Given the description of an element on the screen output the (x, y) to click on. 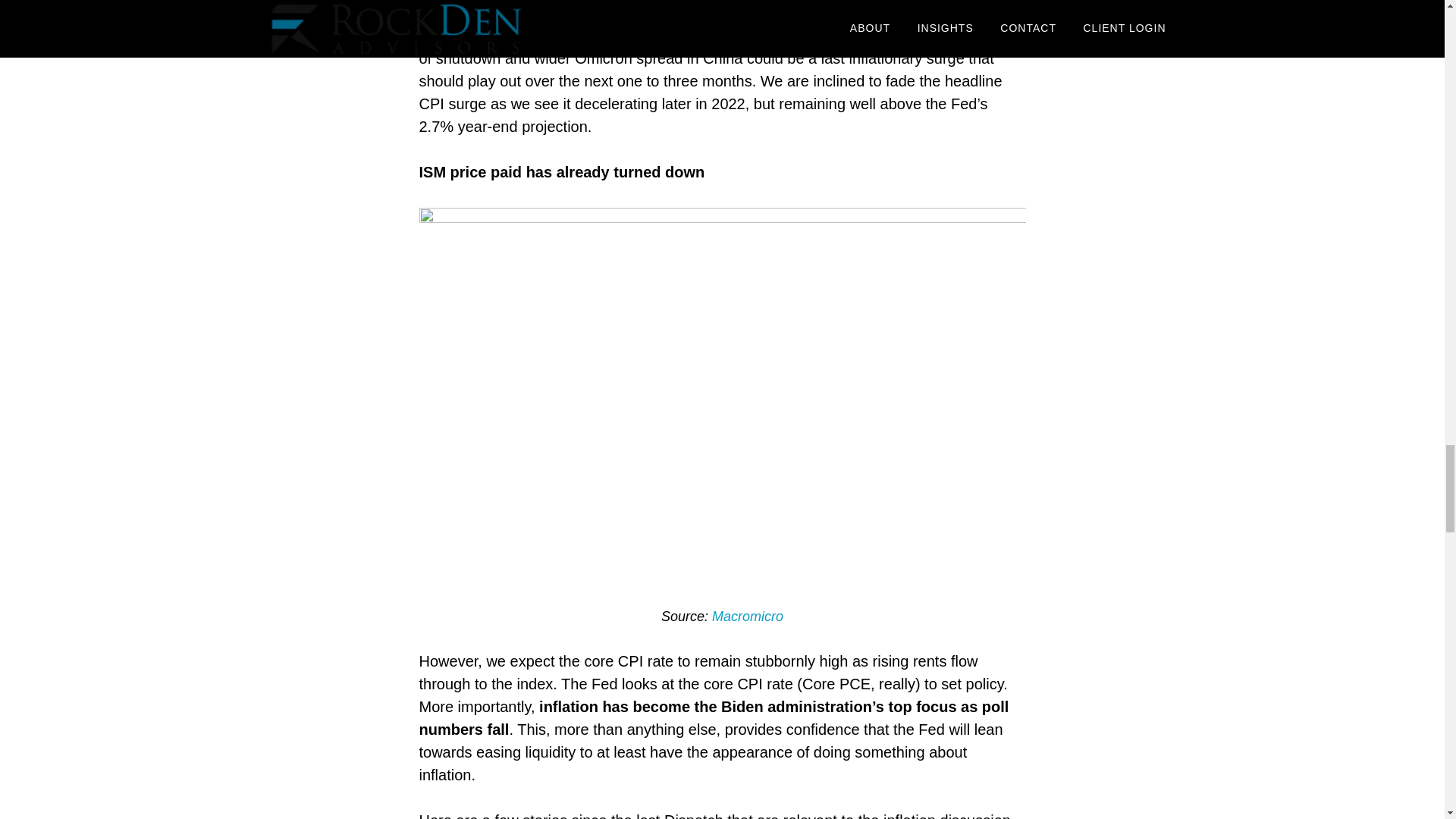
Macromicro (747, 616)
